Given the description of an element on the screen output the (x, y) to click on. 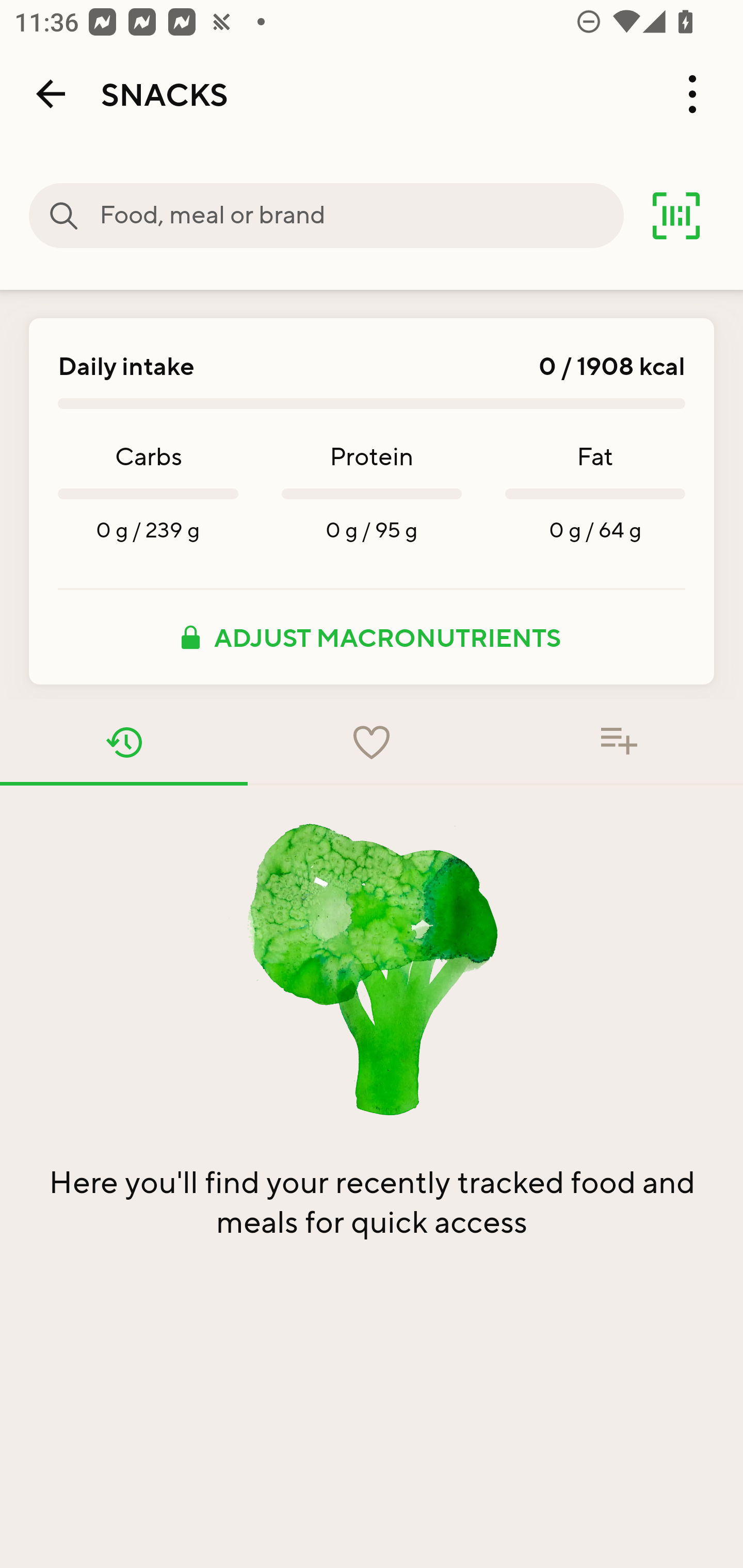
Back (50, 93)
Food, meal or brand (63, 215)
Food, meal or brand (361, 215)
ADJUST MACRONUTRIENTS (371, 637)
Favorites (371, 742)
Food added (619, 742)
